Given the description of an element on the screen output the (x, y) to click on. 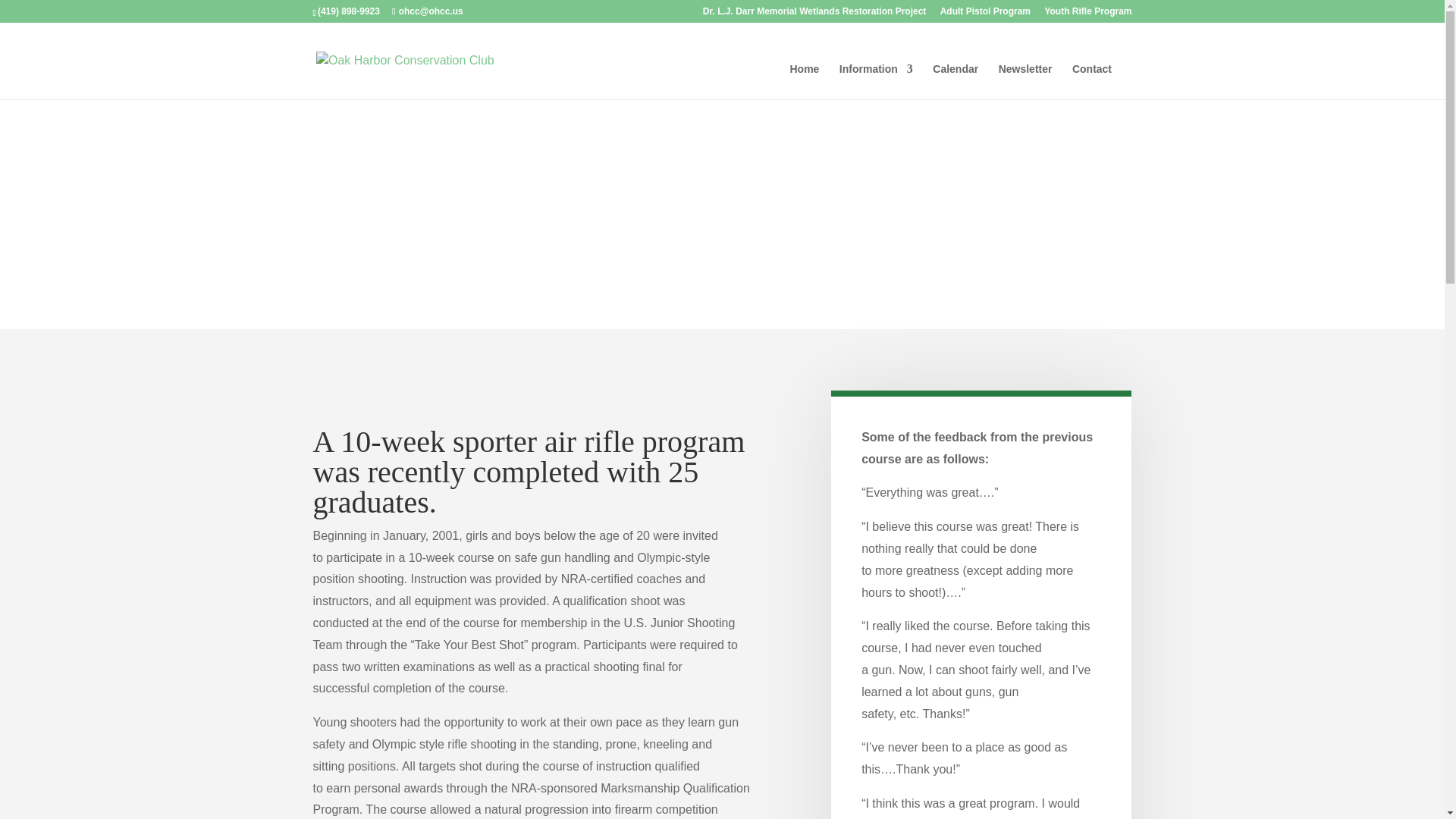
Information (876, 81)
Newsletter (1025, 81)
Youth Rifle Program (1087, 14)
Calendar (955, 81)
Contact (1091, 81)
Get Involved (371, 248)
Dr. L.J. Darr Memorial Wetlands Restoration Project (814, 14)
Adult Pistol Program (985, 14)
